Given the description of an element on the screen output the (x, y) to click on. 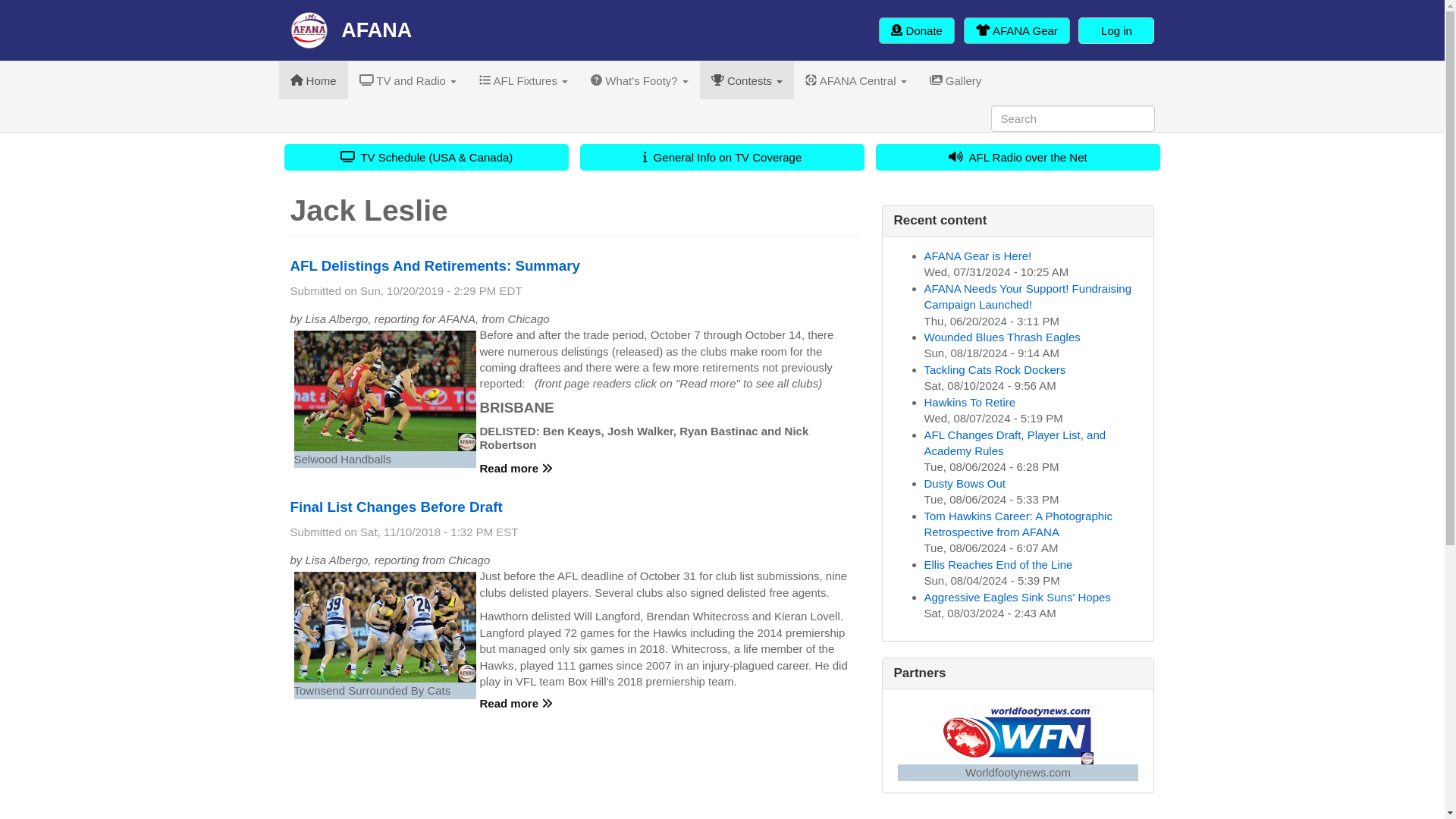
Contests (746, 80)
AFANA (350, 30)
Home (350, 30)
AFL Fixtures (523, 80)
Donate (917, 29)
TV and Radio (407, 80)
Log in (1116, 29)
AFANA Gear (1016, 29)
Home (313, 80)
